Given the description of an element on the screen output the (x, y) to click on. 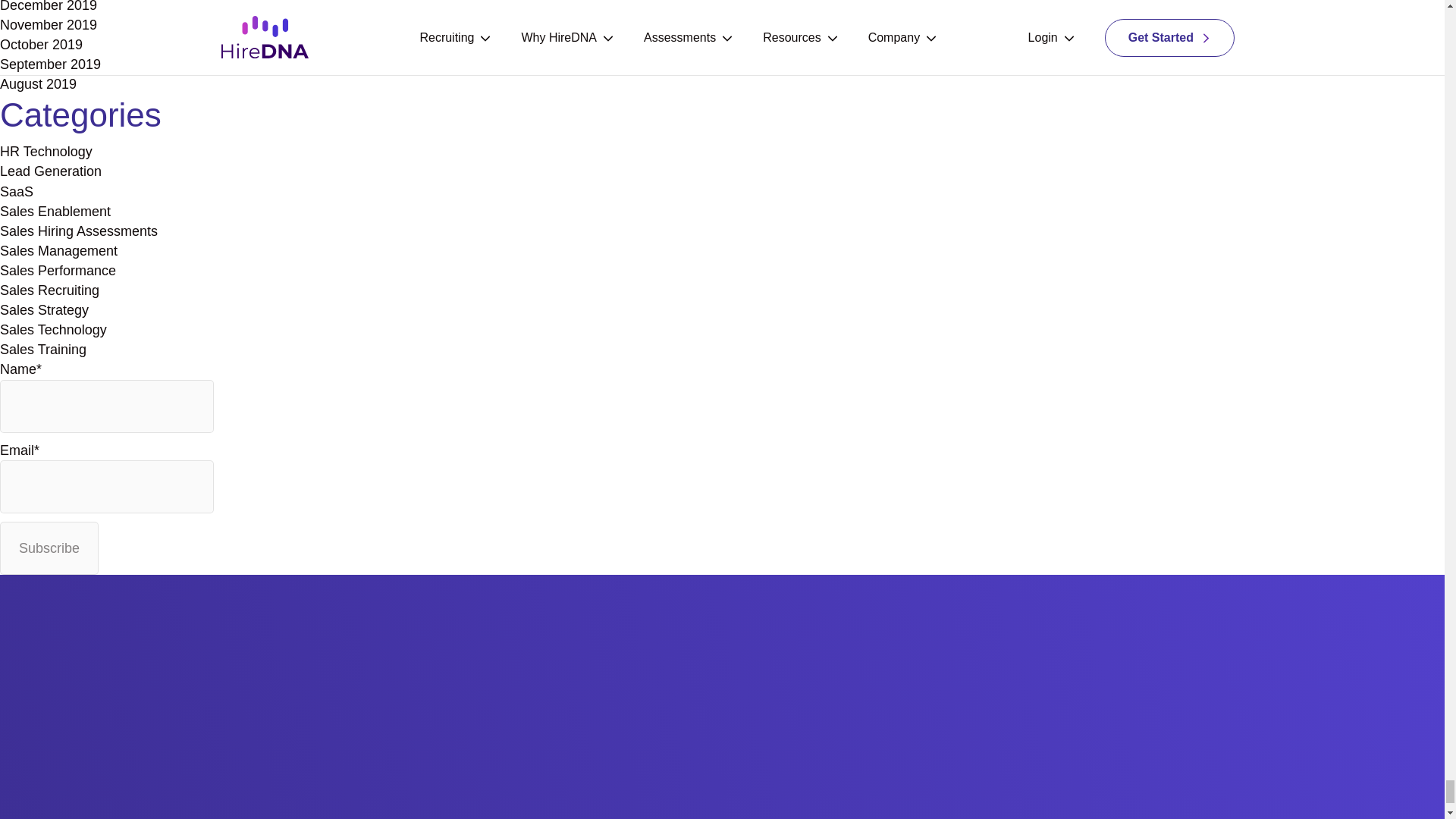
Subscribe (49, 547)
